Given the description of an element on the screen output the (x, y) to click on. 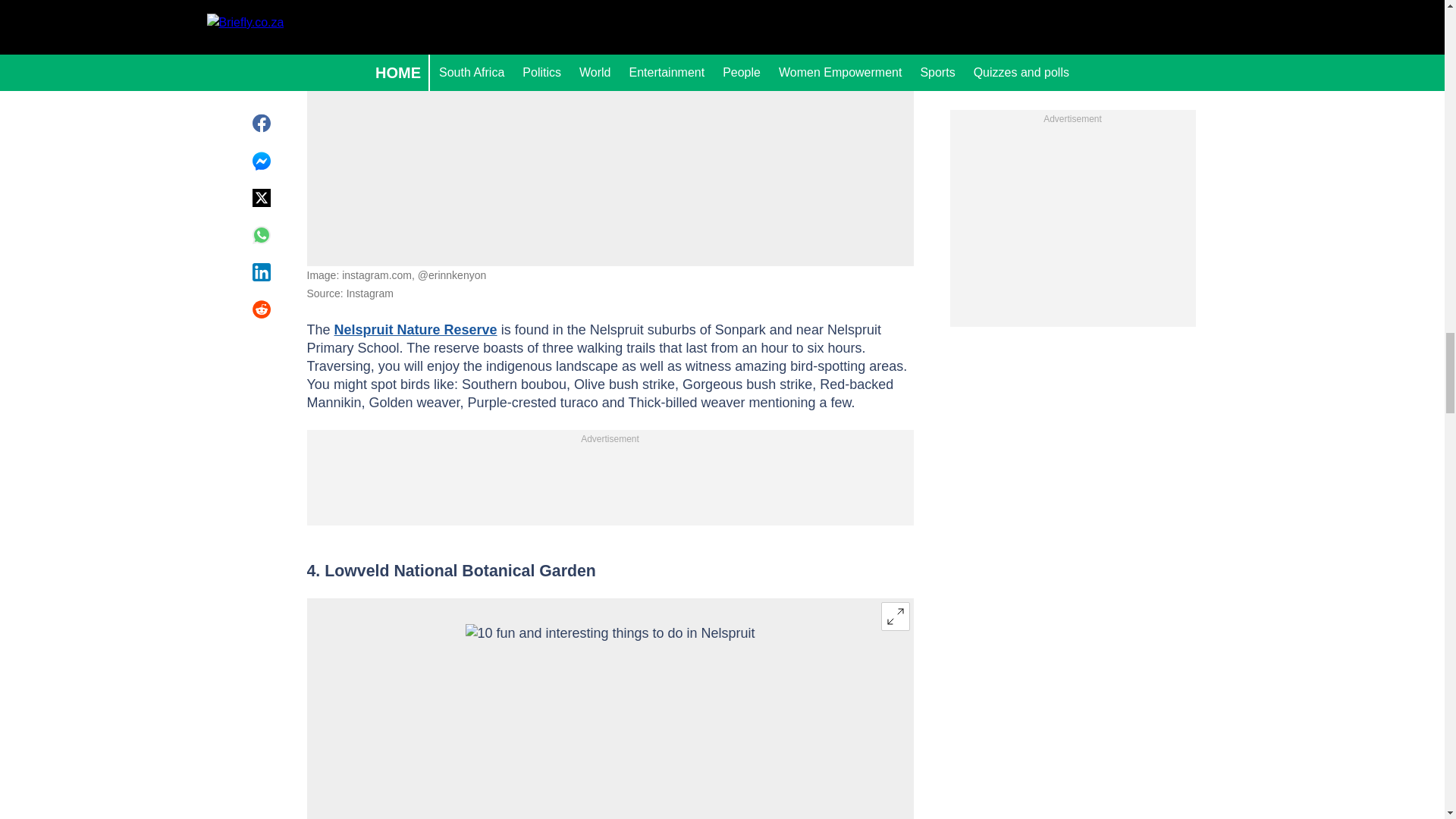
nelspruit nature reserve (415, 329)
10 fun and interesting things to do in Nelspruit (609, 94)
Expand image (895, 615)
10 fun and interesting things to do in Nelspruit (609, 721)
